Given the description of an element on the screen output the (x, y) to click on. 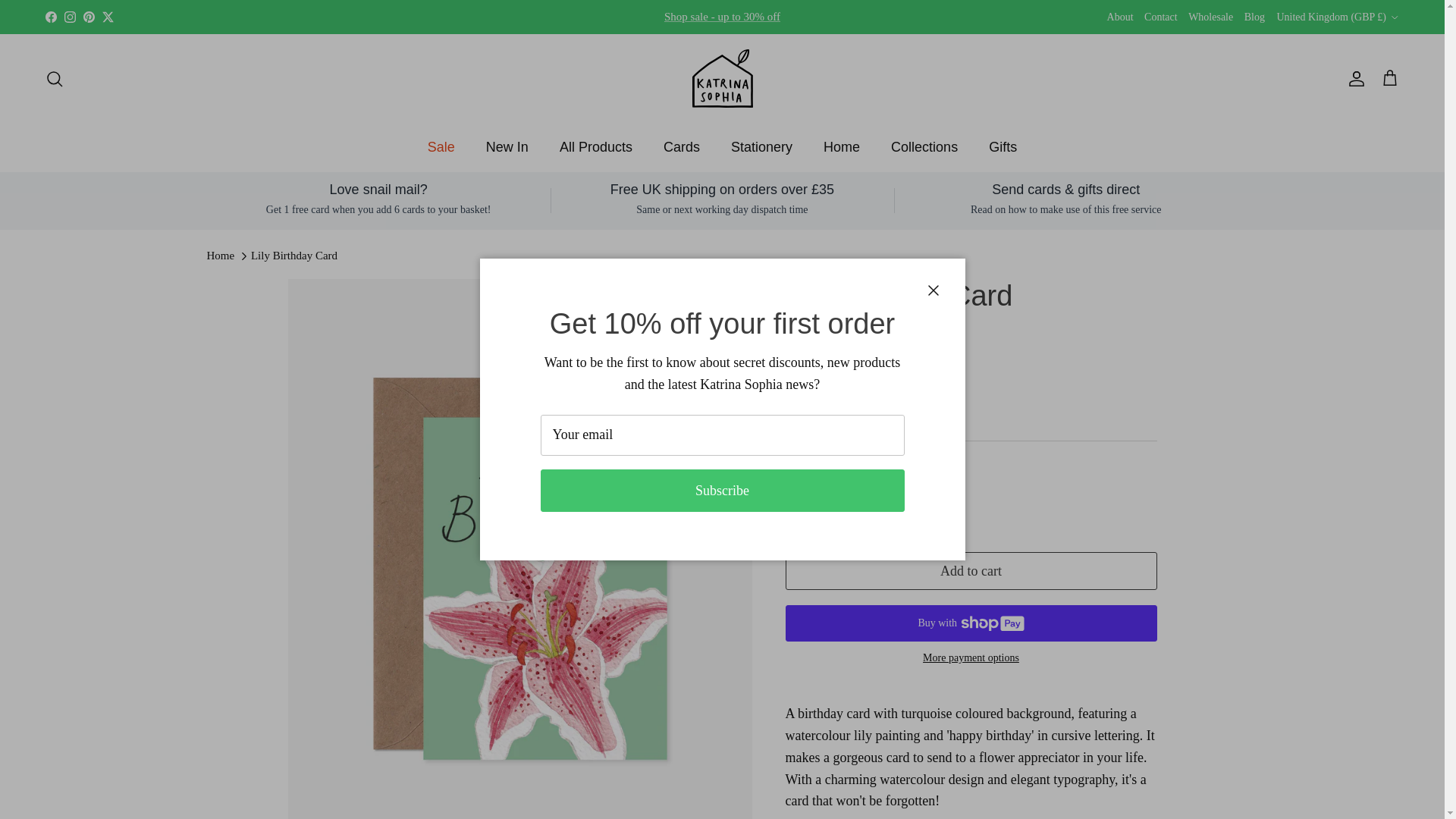
Katrina Sophia on Twitter (107, 16)
Katrina Sophia (721, 78)
About (1120, 17)
Katrina Sophia on Instagram (69, 16)
Katrina Sophia on Pinterest (88, 16)
Cart (1389, 77)
All Products (596, 147)
Sale (440, 147)
Account (1352, 78)
Wholesale (1210, 17)
1 (847, 503)
Katrina Sophia on Facebook (50, 16)
Sale (721, 16)
Blog (1254, 17)
Instagram (69, 16)
